Given the description of an element on the screen output the (x, y) to click on. 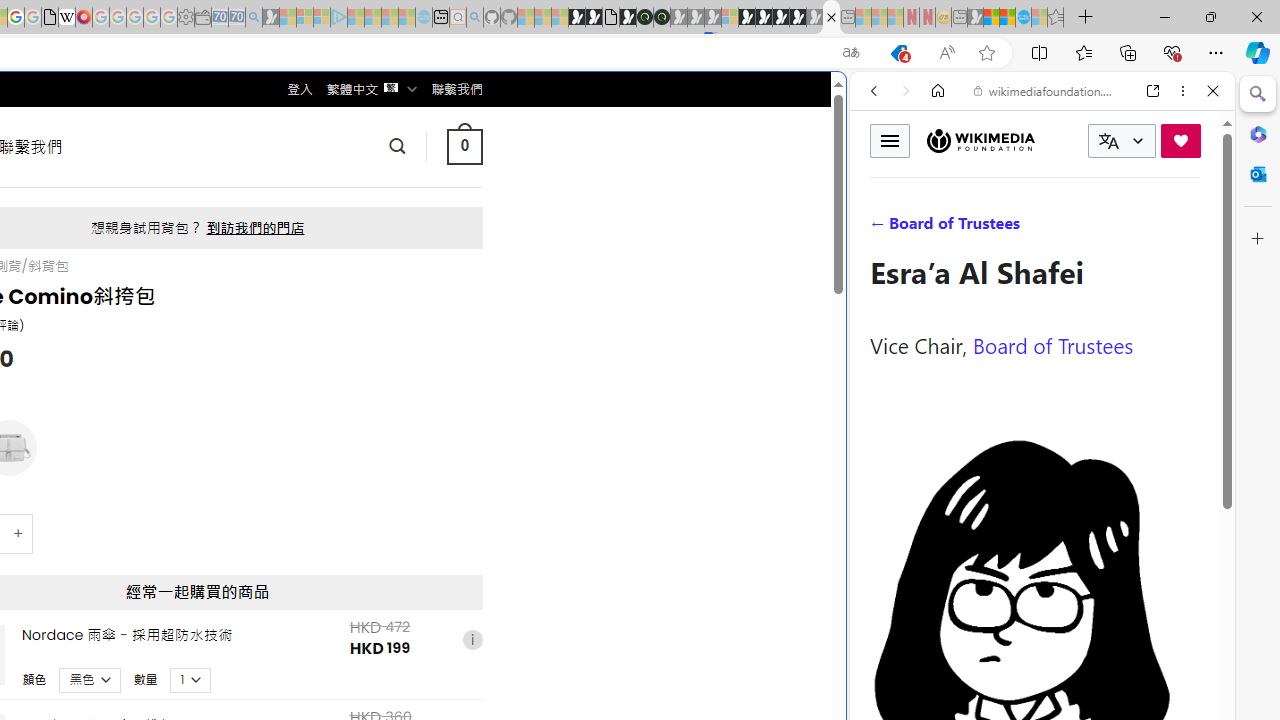
CURRENT LANGUAGE: (1121, 141)
Close split screen (844, 102)
Board of Trustees (1053, 344)
Class: i icon icon-translate language-switcher__icon (1108, 141)
